Given the description of an element on the screen output the (x, y) to click on. 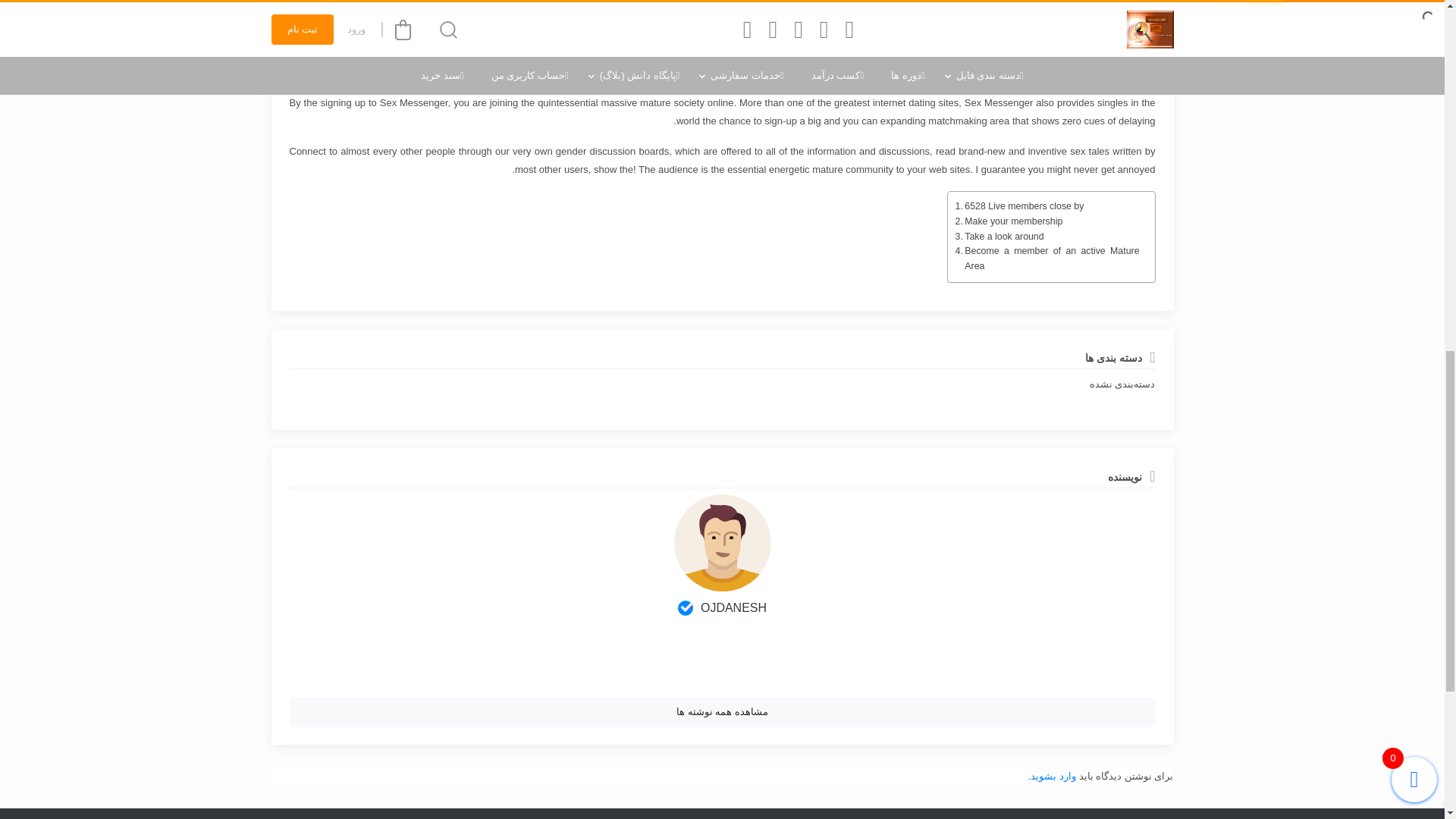
Take a look around (999, 236)
Become a member of an active Mature Area (1047, 259)
6528 Live members close by (1019, 206)
Make your membership (1008, 222)
